Given the description of an element on the screen output the (x, y) to click on. 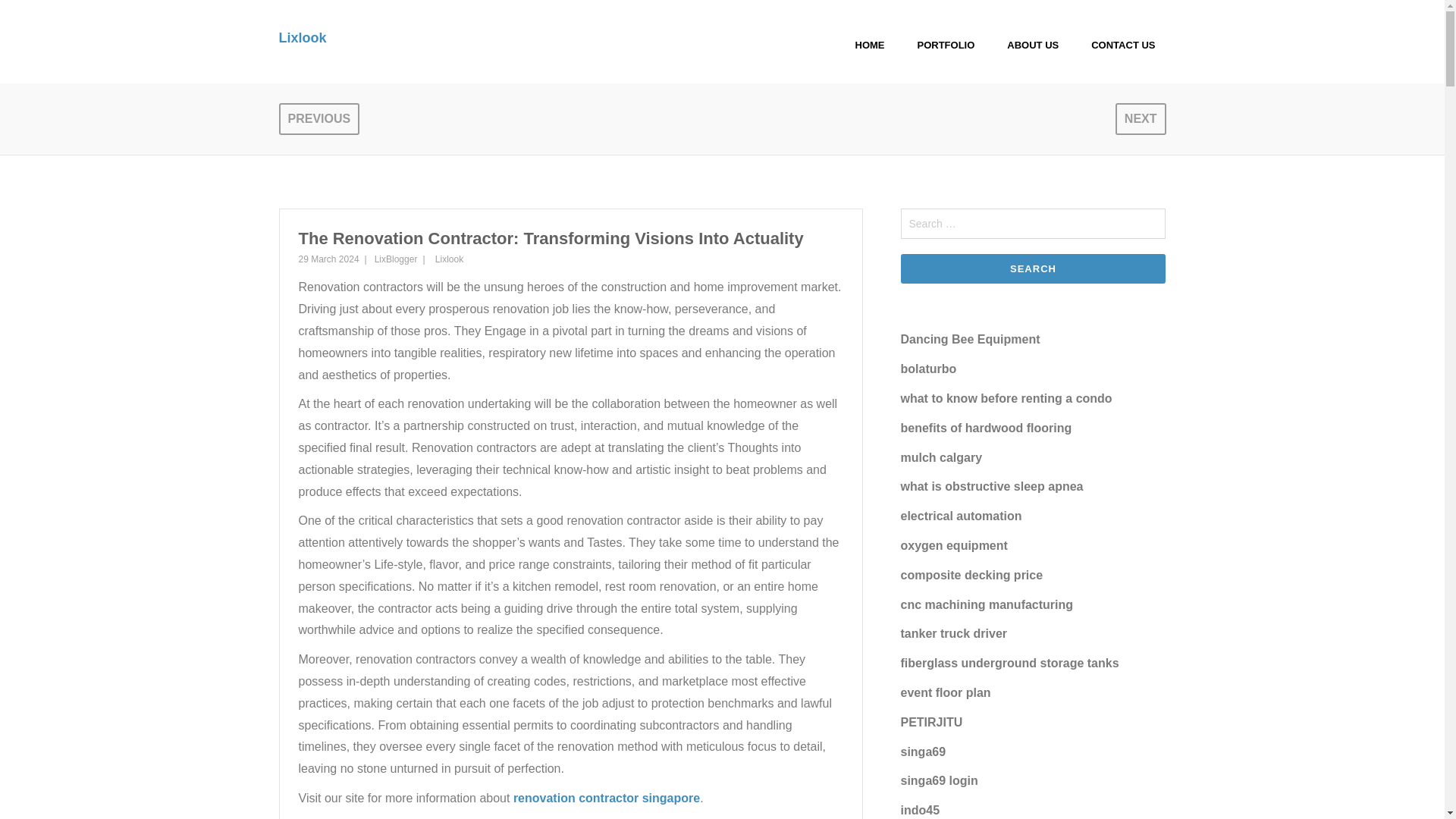
event floor plan (946, 692)
indo45 (920, 809)
tanker truck driver (954, 633)
what is obstructive sleep apnea (992, 486)
benefits of hardwood flooring (986, 427)
Search (1033, 268)
renovation contractor singapore (606, 797)
PETIRJITU (931, 721)
ABOUT US (1031, 45)
CONTACT US (1123, 45)
Search (1033, 268)
29 March 2024 (328, 258)
composite decking price (972, 574)
oxygen equipment (954, 545)
electrical automation (961, 515)
